Given the description of an element on the screen output the (x, y) to click on. 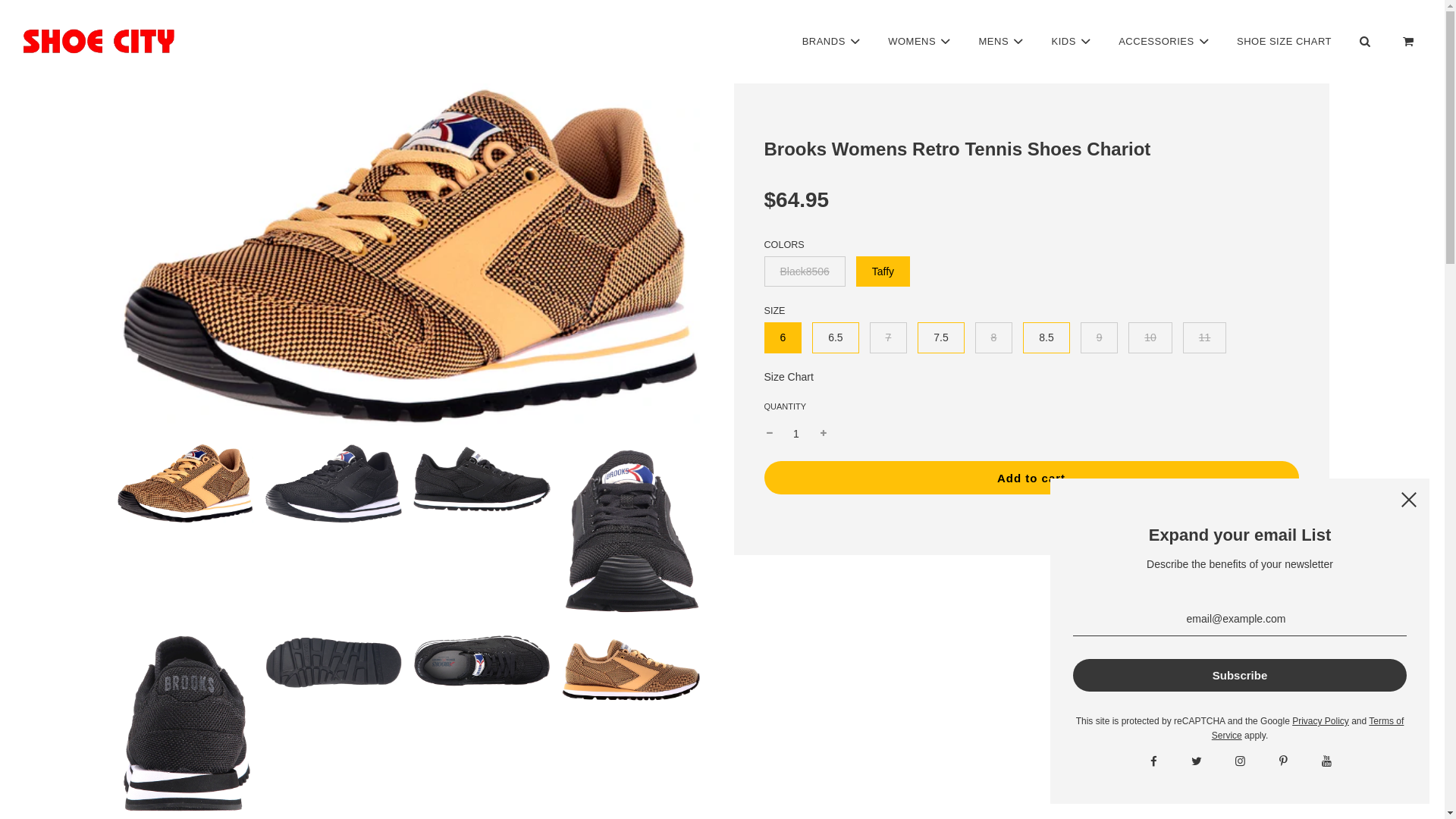
Subscribe (1239, 675)
1 (796, 433)
